Given the description of an element on the screen output the (x, y) to click on. 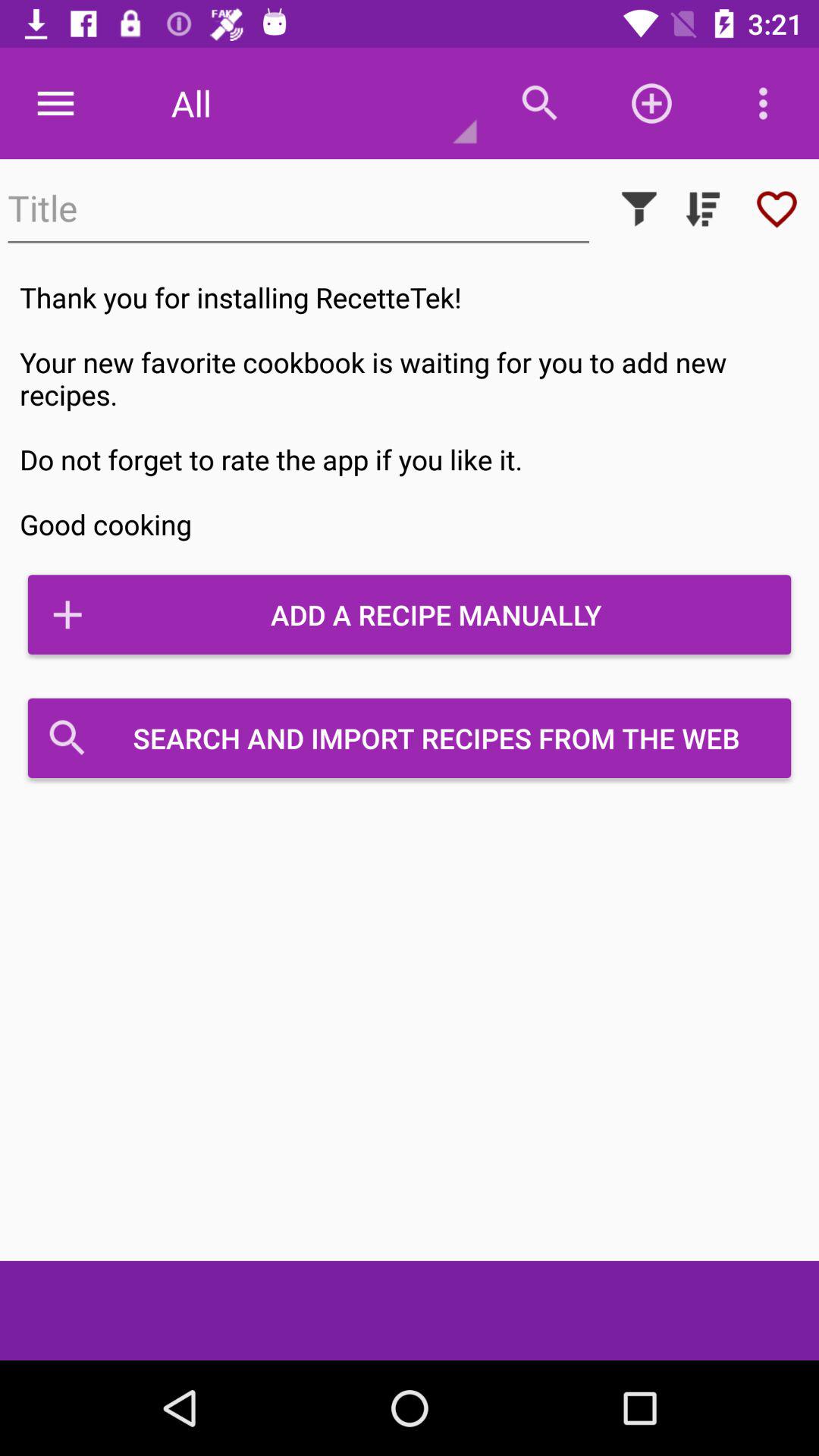
click to favorite (776, 208)
